Given the description of an element on the screen output the (x, y) to click on. 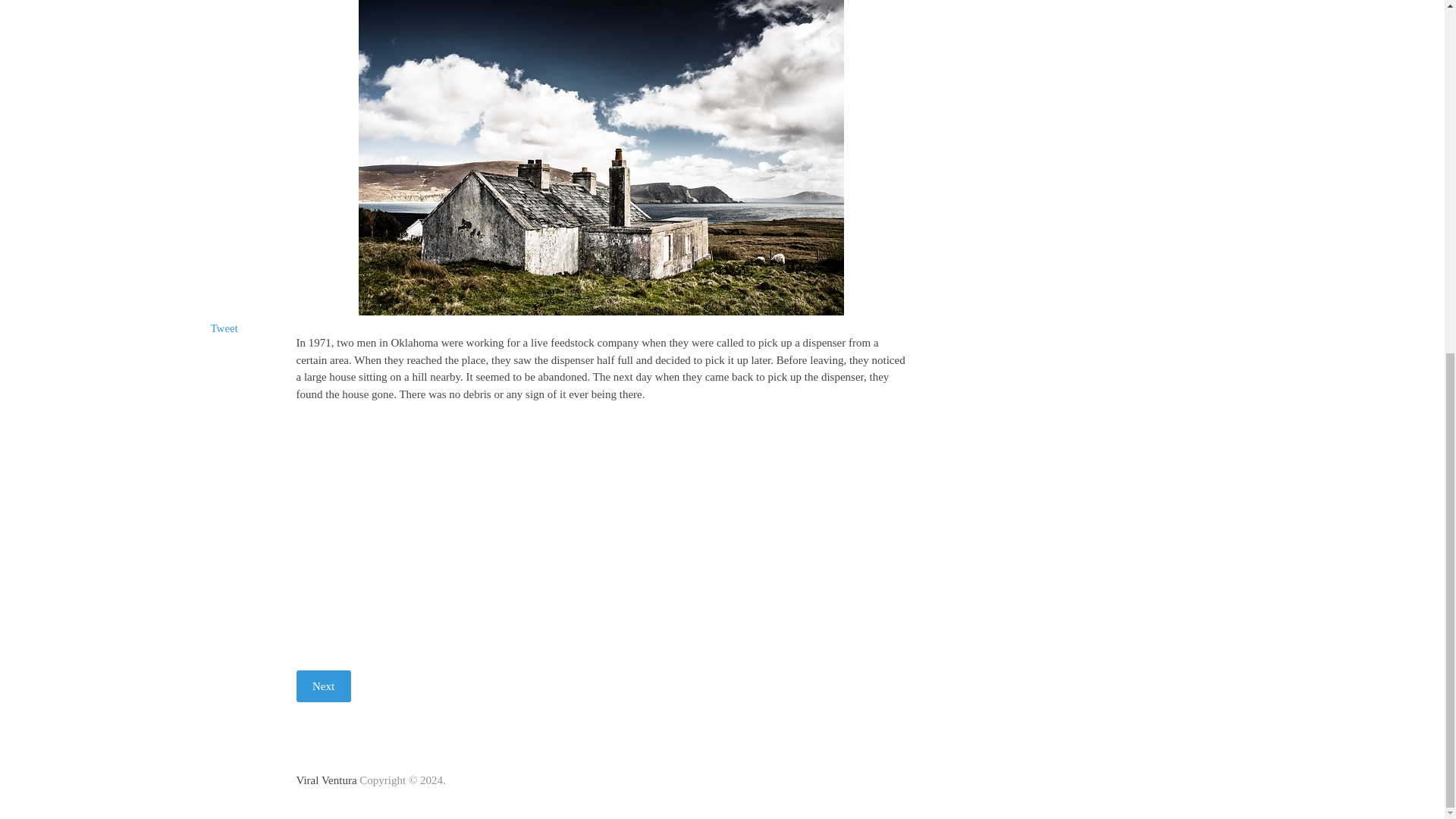
Next (322, 686)
Viral Ventura (325, 779)
Not everything that goes viral is a virus (325, 779)
